Given the description of an element on the screen output the (x, y) to click on. 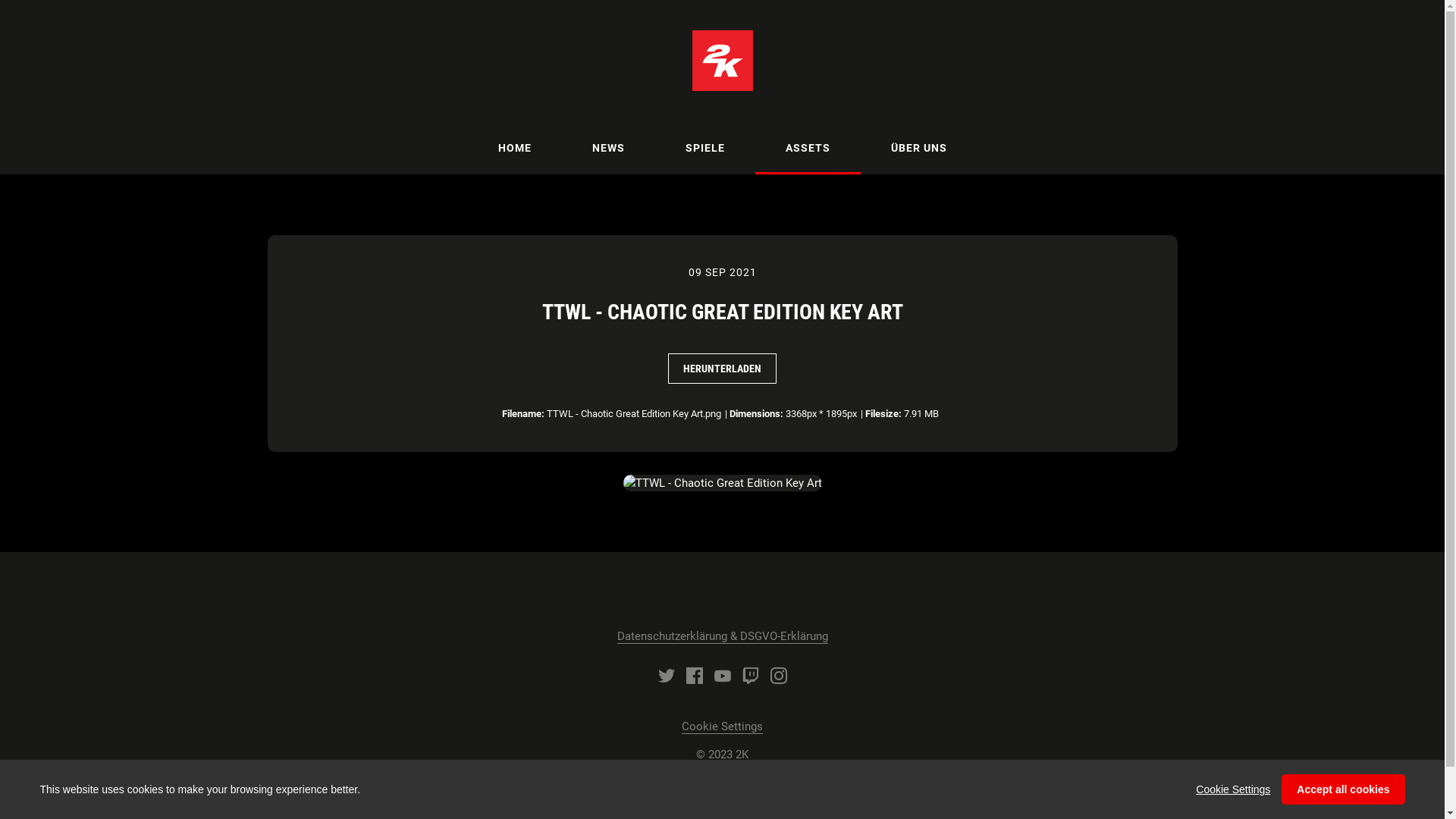
Accept all cookies Element type: text (1342, 789)
Cookie Settings Element type: text (1232, 789)
SPIELE Element type: text (705, 147)
Facebook Element type: hover (693, 675)
Twitch Element type: hover (749, 675)
Instagram Element type: hover (778, 675)
Cookie Settings Element type: text (721, 726)
ASSETS Element type: text (807, 147)
NEWS Element type: text (607, 147)
YouTube Element type: hover (722, 675)
Twitter Element type: hover (666, 675)
HERUNTERLADEN Element type: text (722, 368)
HOME Element type: text (514, 147)
Onclusive PR Manager Element type: text (749, 782)
